Given the description of an element on the screen output the (x, y) to click on. 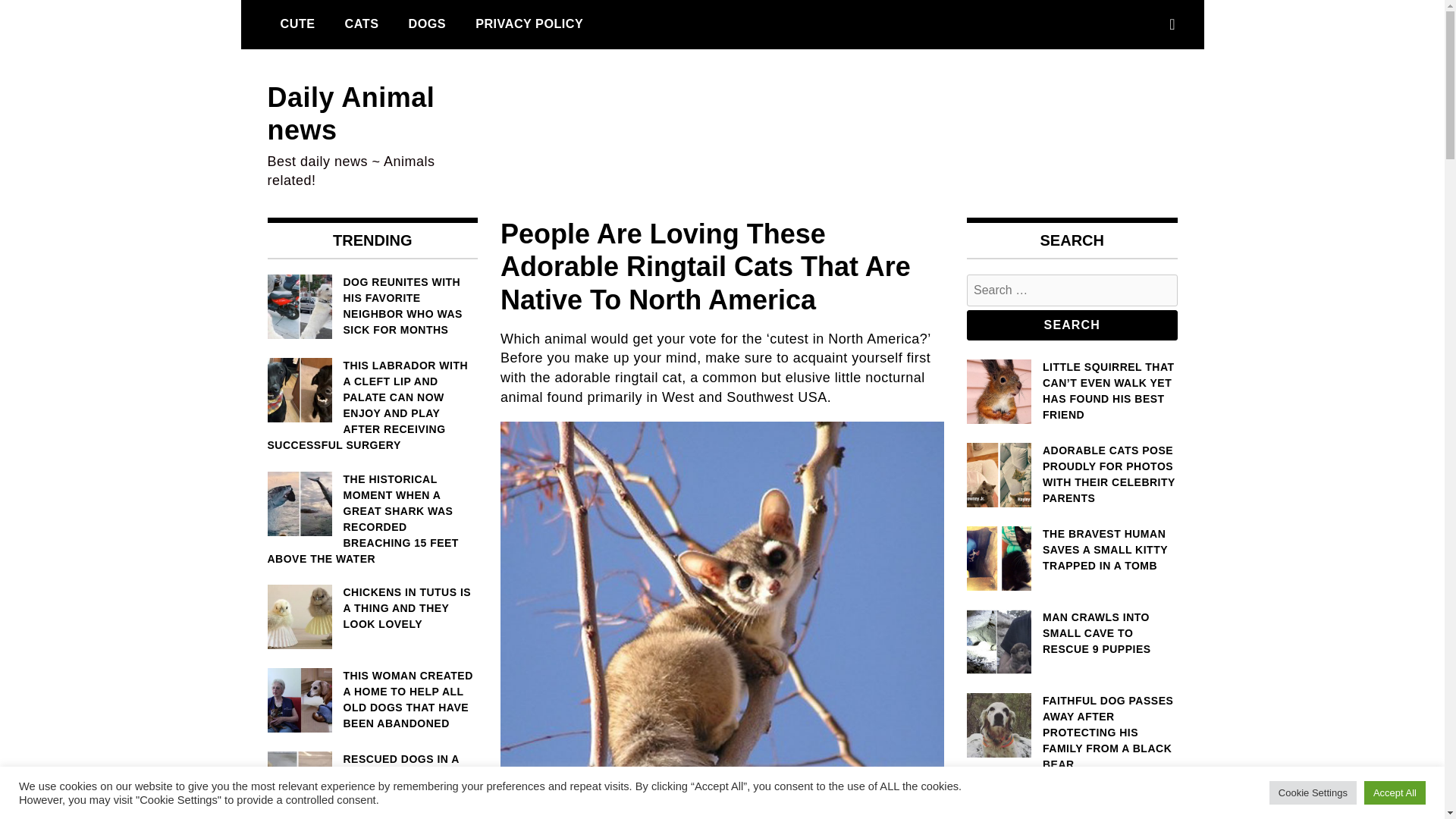
PRIVACY POLICY (529, 23)
THE BRAVEST HUMAN SAVES A SMALL KITTY TRAPPED IN A TOMB (1071, 550)
DOGS (426, 23)
CHICKENS IN TUTUS IS A THING AND THEY LOOK LOVELY (371, 608)
CATS (361, 23)
MAN CRAWLS INTO SMALL CAVE TO RESCUE 9 PUPPIES (1071, 633)
